Given the description of an element on the screen output the (x, y) to click on. 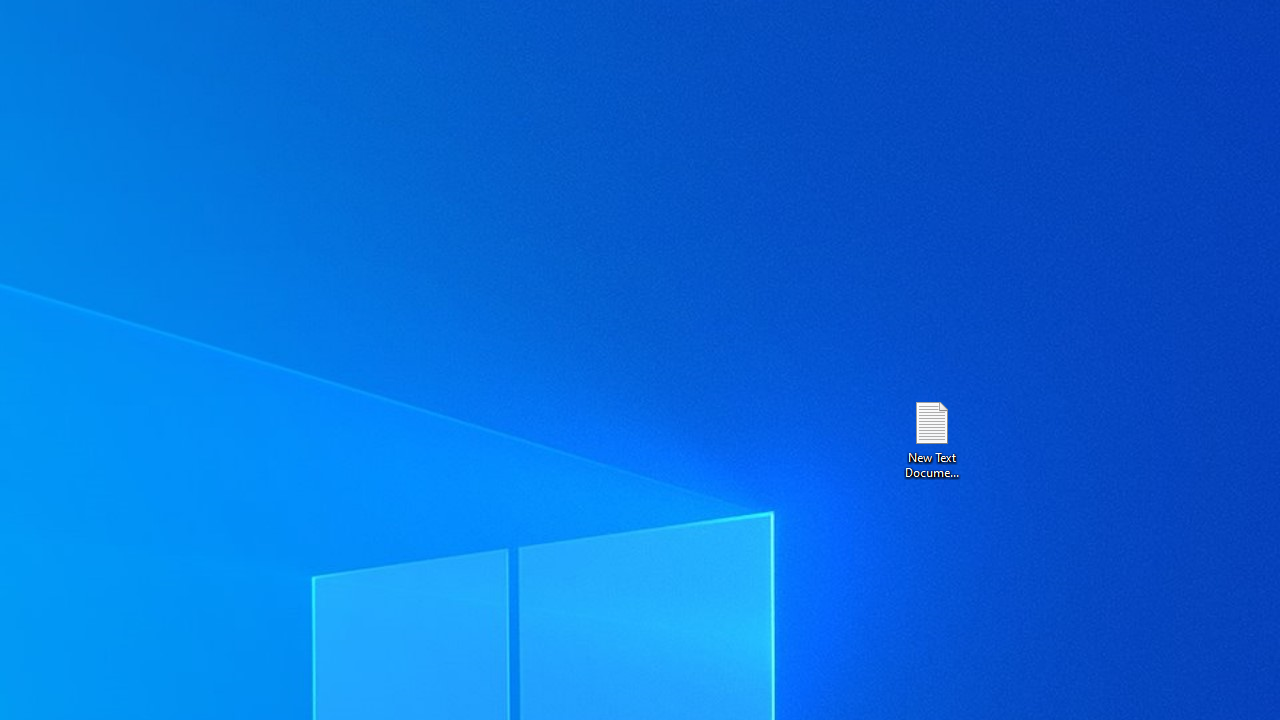
New Text Document (2) (931, 438)
